Given the description of an element on the screen output the (x, y) to click on. 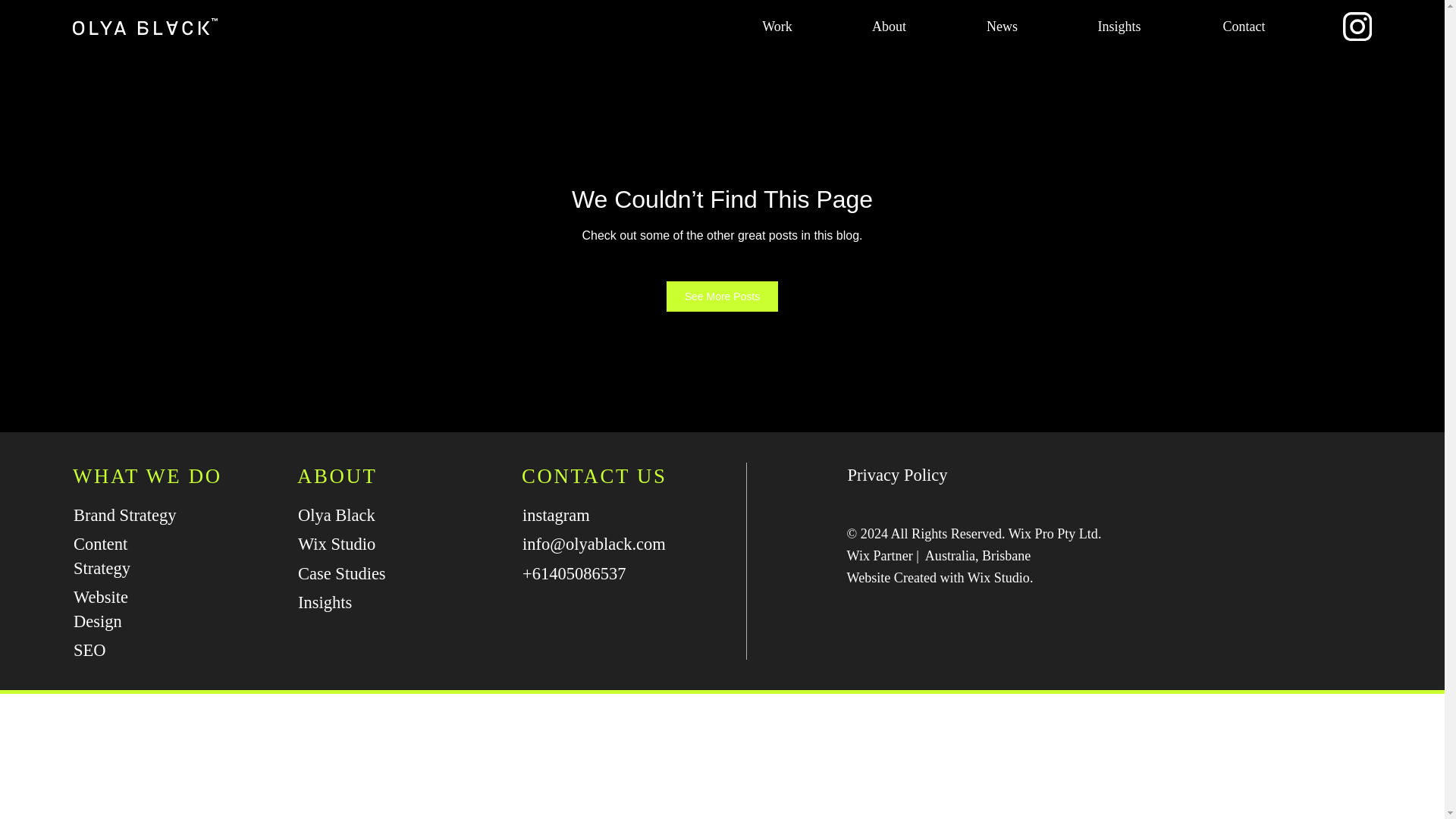
Contact (1243, 26)
Olya Black (350, 514)
SEO (126, 650)
Wix Studio (350, 544)
See More Posts (722, 296)
Insights (1119, 26)
instagram (574, 514)
Case Studies (350, 574)
Content Strategy (126, 555)
About (888, 26)
